Given the description of an element on the screen output the (x, y) to click on. 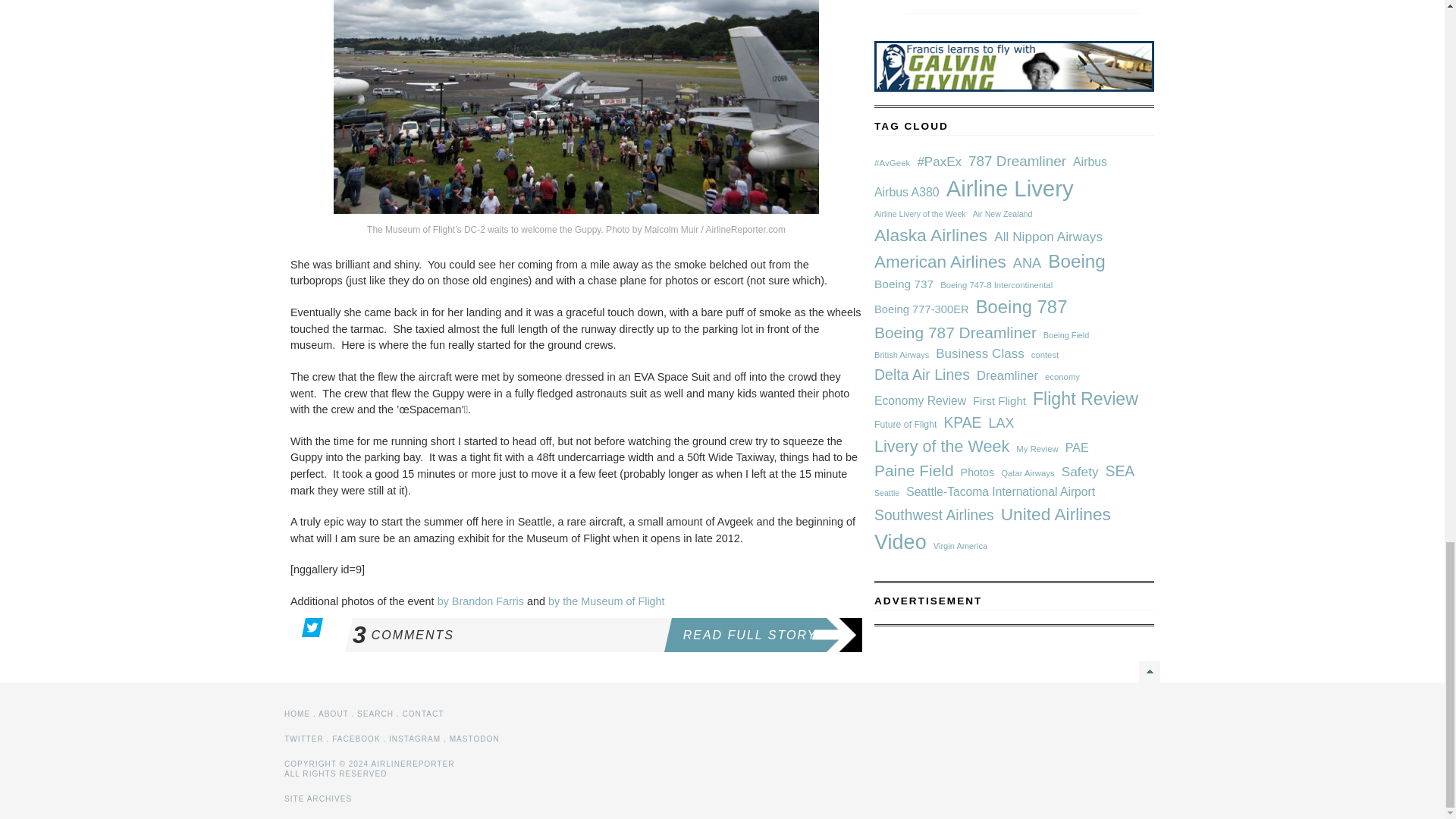
guppy17 (575, 106)
READ FULL STORY (766, 634)
by Brandon Farris (481, 601)
by the Museum of Flight (507, 634)
